Given the description of an element on the screen output the (x, y) to click on. 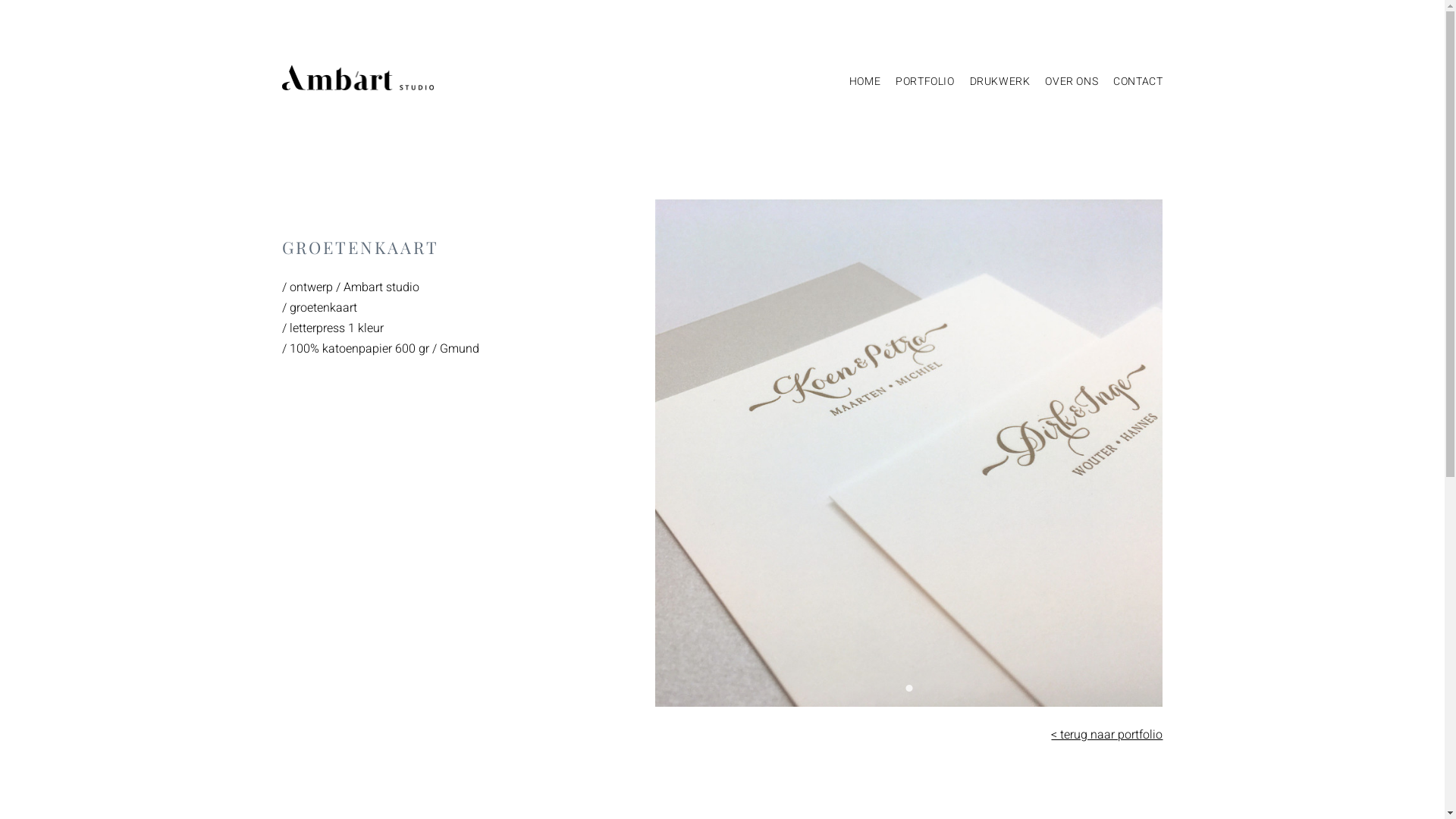
Ambart Studio - Letterpress | Hotfoil | Design Element type: hover (357, 77)
OVER ONS Element type: text (1063, 81)
PORTFOLIO Element type: text (916, 81)
DRUKWERK Element type: text (992, 81)
HOME Element type: text (857, 81)
CONTACT Element type: text (1130, 81)
< terug naar portfolio Element type: text (1106, 734)
1 Element type: text (908, 687)
